Given the description of an element on the screen output the (x, y) to click on. 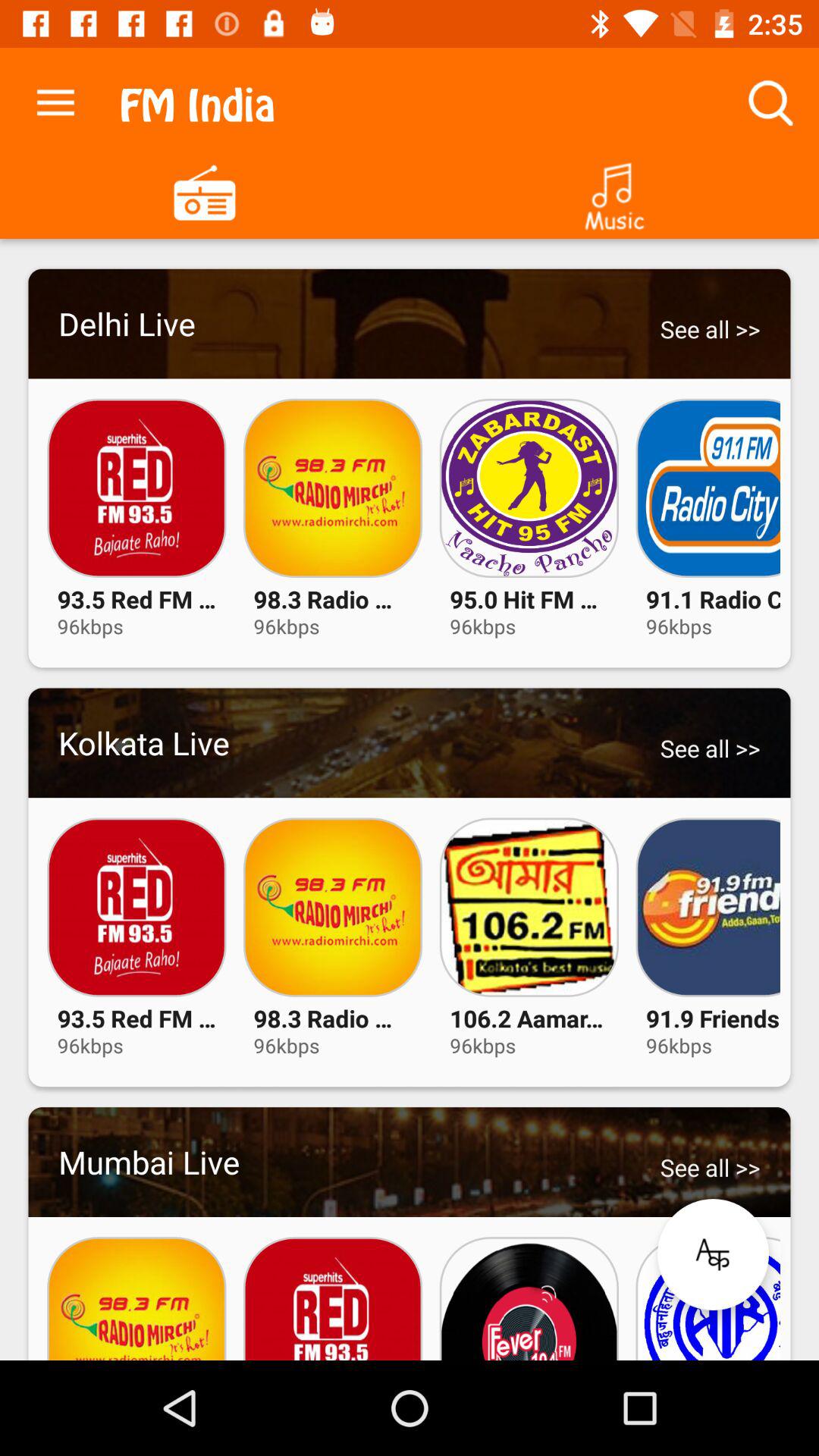
radio (204, 190)
